Given the description of an element on the screen output the (x, y) to click on. 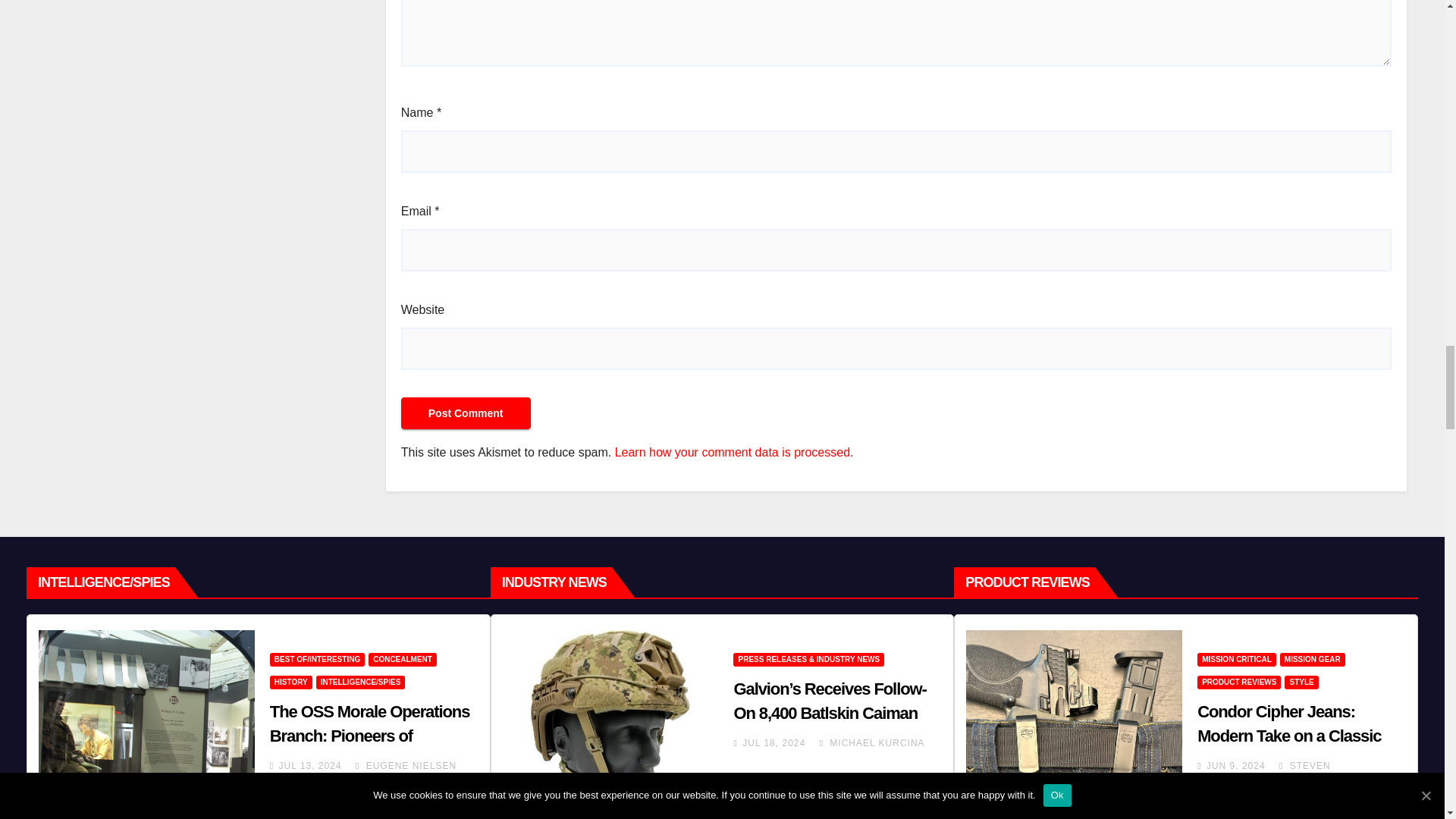
Post Comment (466, 413)
